Given the description of an element on the screen output the (x, y) to click on. 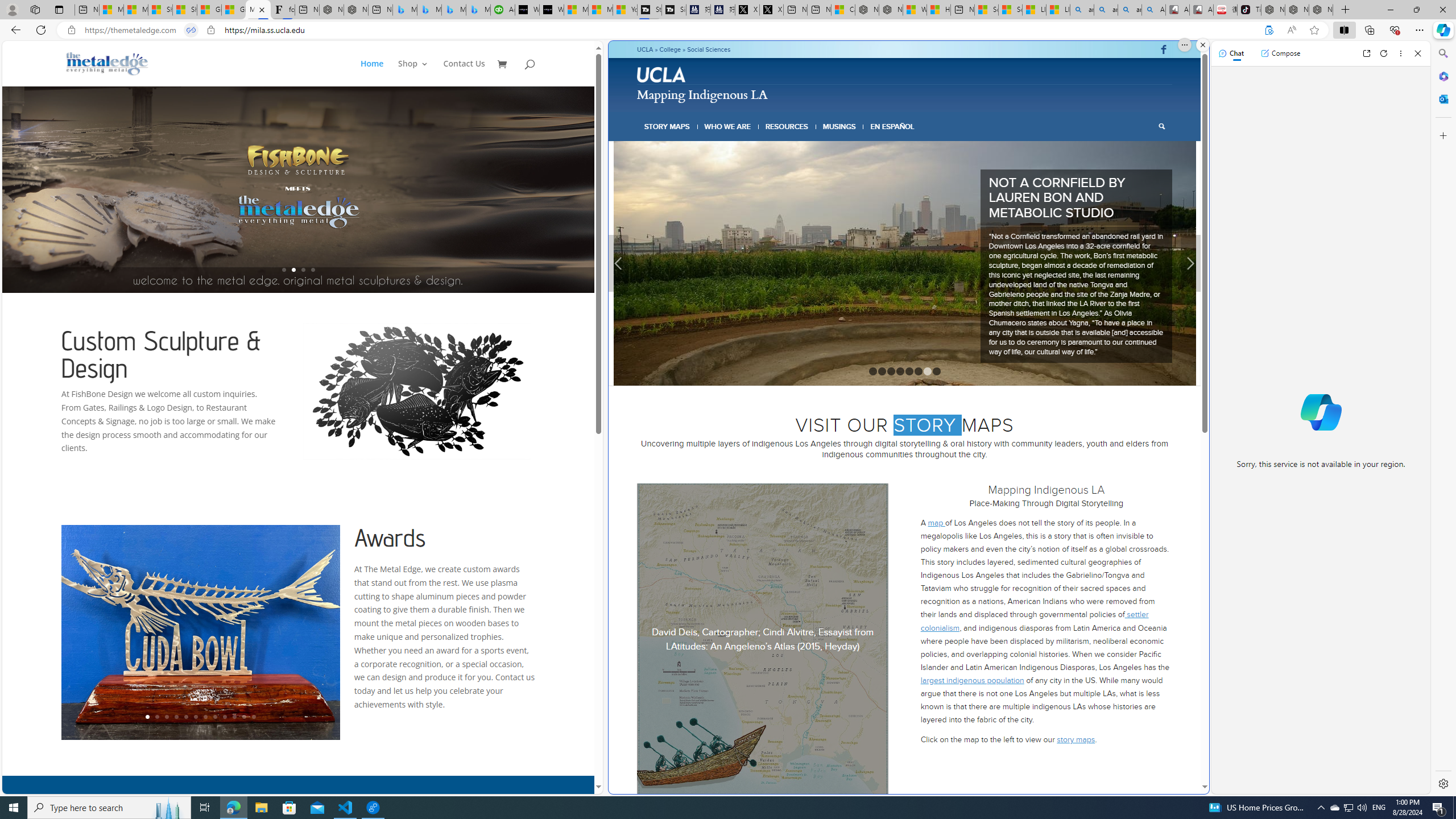
STORY MAPS (667, 126)
2 (881, 320)
Nordace - Best Sellers (1273, 9)
Support THE UCLA FOUNDATION? (1268, 29)
TikTok (1248, 9)
Compose (1280, 52)
notacorn (346, 262)
MUSINGS (839, 126)
Tabs in split screen (190, 29)
Home (371, 72)
